Given the description of an element on the screen output the (x, y) to click on. 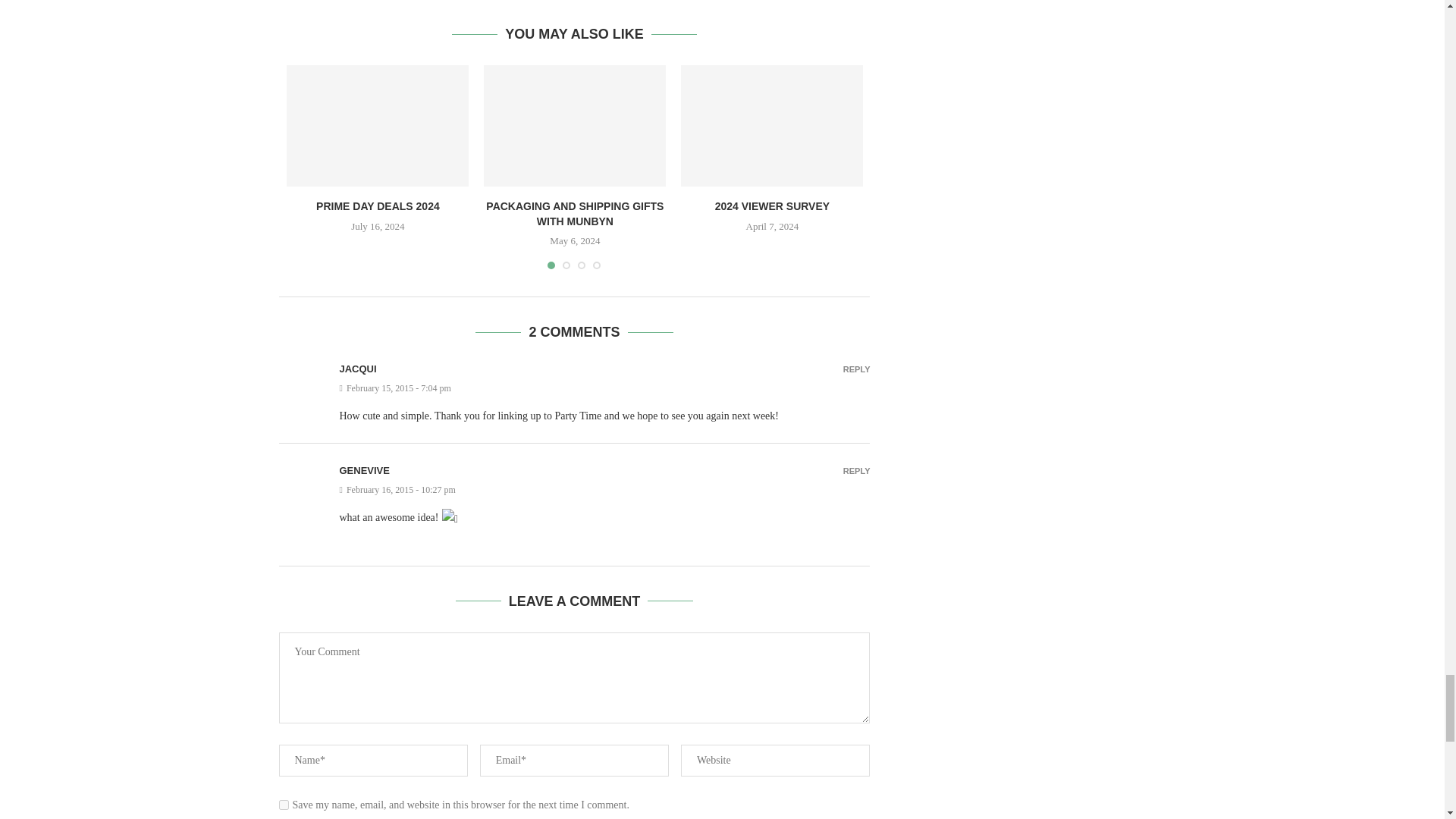
yes (283, 804)
Packaging and Shipping Gifts with Munbyn (574, 125)
2024 Viewer Survey (772, 125)
Prime Day Deals 2024 (377, 125)
